Given the description of an element on the screen output the (x, y) to click on. 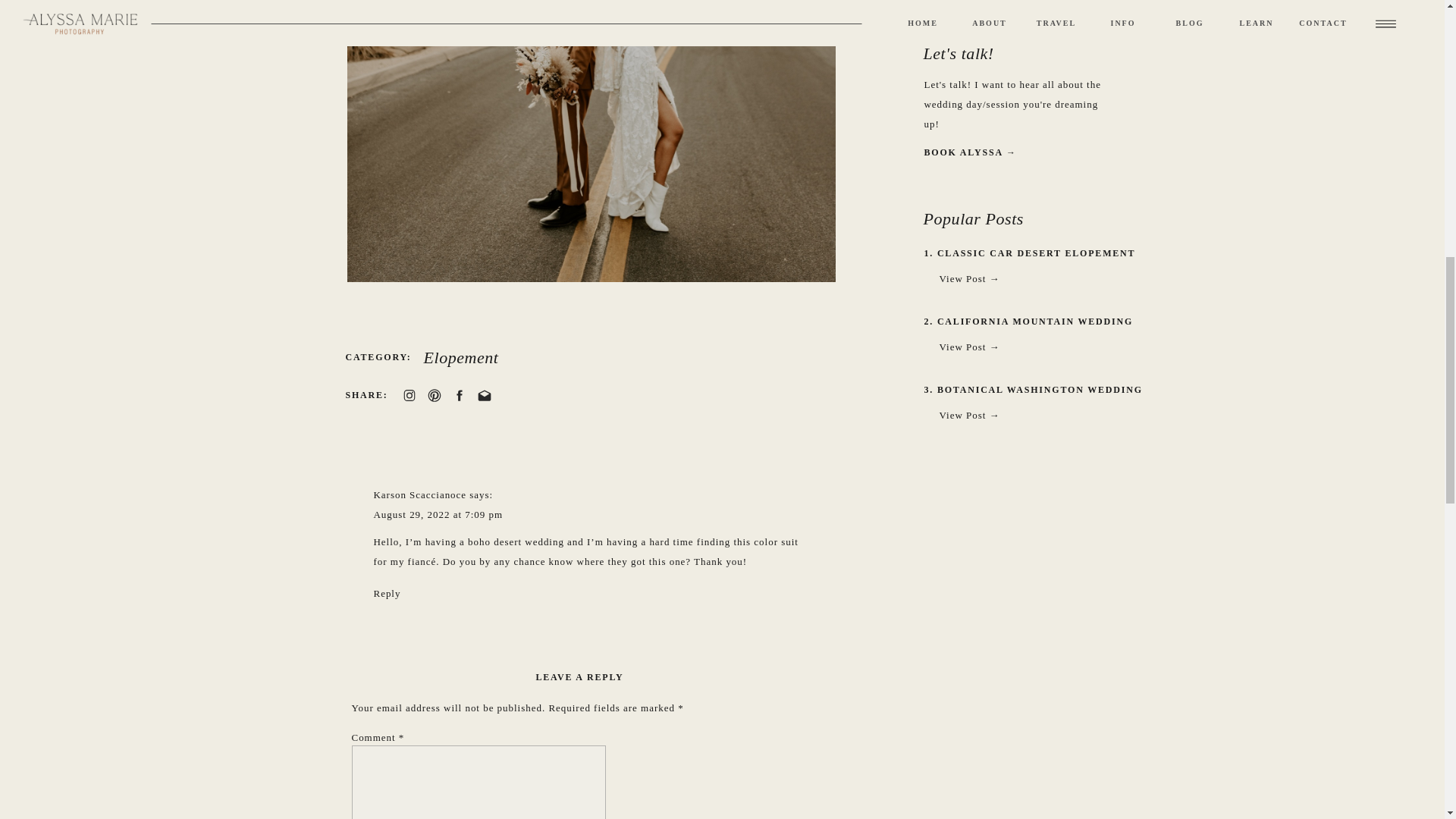
Reply (386, 593)
August 29, 2022 at 7:09 pm (437, 514)
1. CLASSIC CAR DESERT ELOPEMENT  (1041, 256)
Elopement (460, 357)
